Given the description of an element on the screen output the (x, y) to click on. 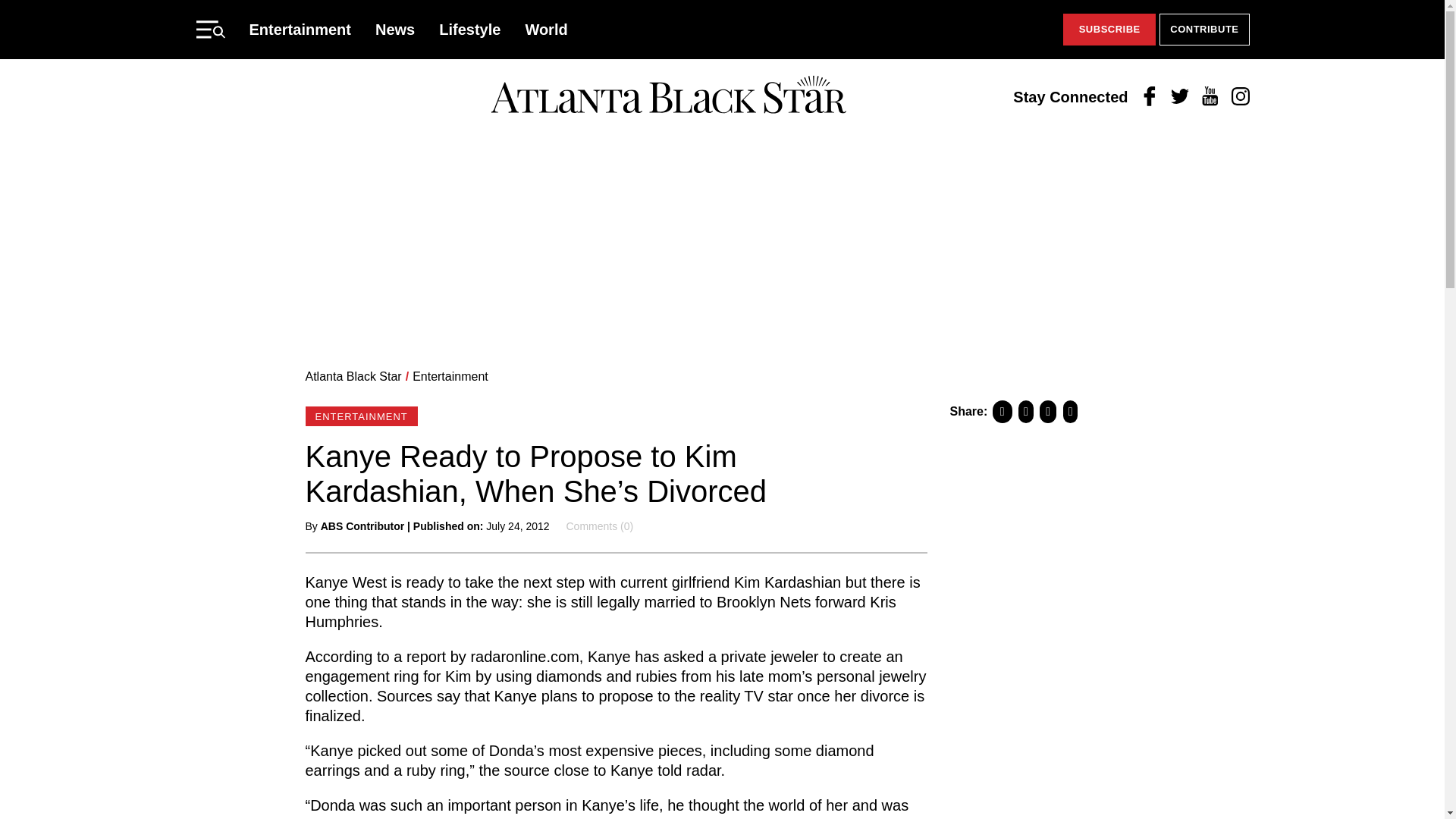
Atlanta Black Star (667, 96)
SUBSCRIBE (1109, 29)
Go to the Entertainment Category archives. (449, 376)
CONTRIBUTE (1203, 29)
ABS Contributor (362, 526)
Entertainment (449, 376)
Atlanta Black Star (352, 376)
News (394, 29)
Entertainment (299, 29)
ENTERTAINMENT (360, 415)
